Given the description of an element on the screen output the (x, y) to click on. 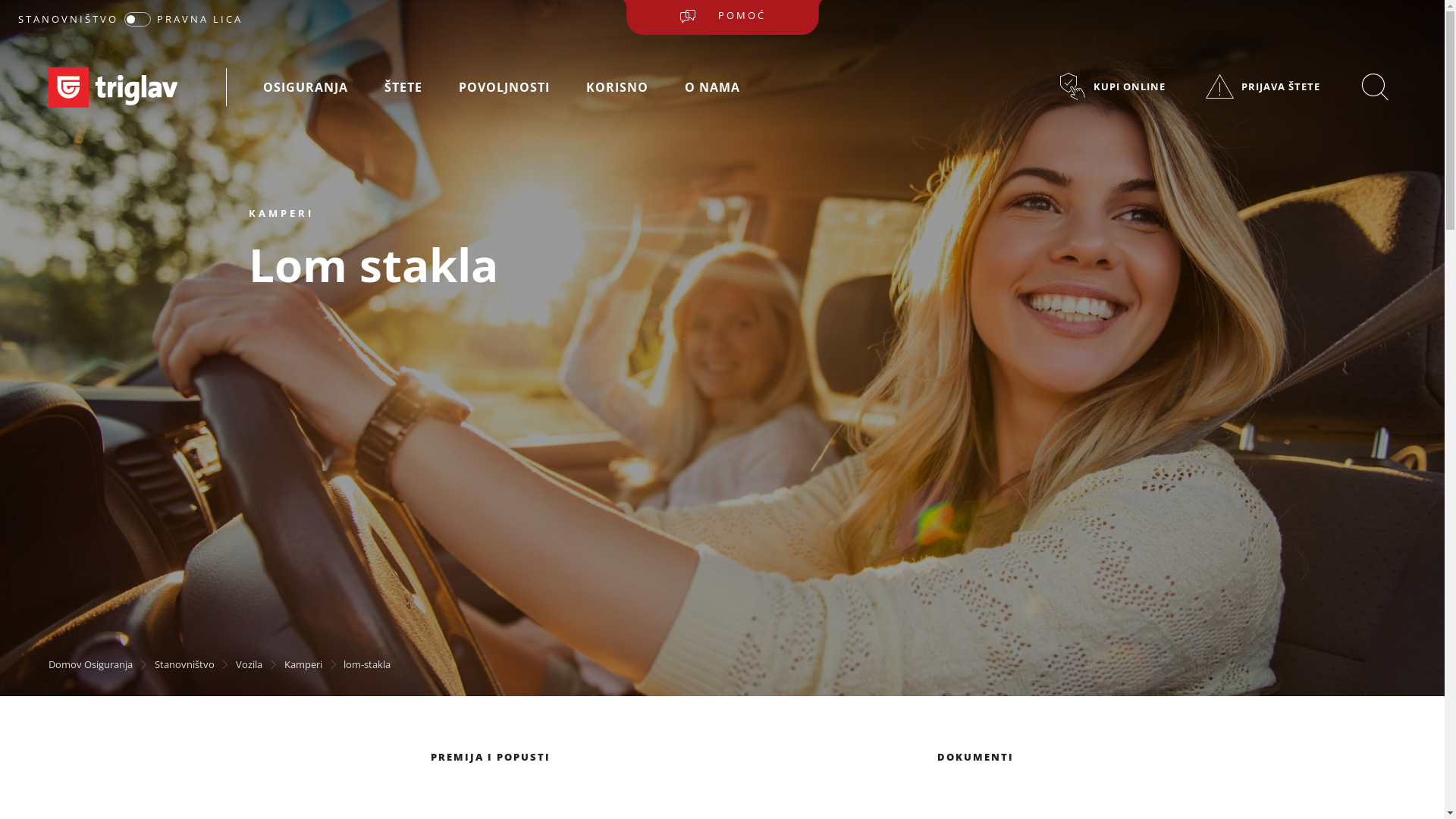
O NAMA Element type: text (712, 87)
PRAVNA LICA Element type: text (199, 18)
Kamperi Element type: text (303, 664)
lom-stakla Element type: text (366, 664)
Osiguranja Element type: text (108, 664)
KORISNO Element type: text (616, 87)
OSIGURANJA Element type: text (305, 87)
KUPI ONLINE Element type: text (1111, 85)
Vozila Element type: text (248, 664)
POVOLJNOSTI Element type: text (503, 87)
Domov Element type: text (64, 664)
